Given the description of an element on the screen output the (x, y) to click on. 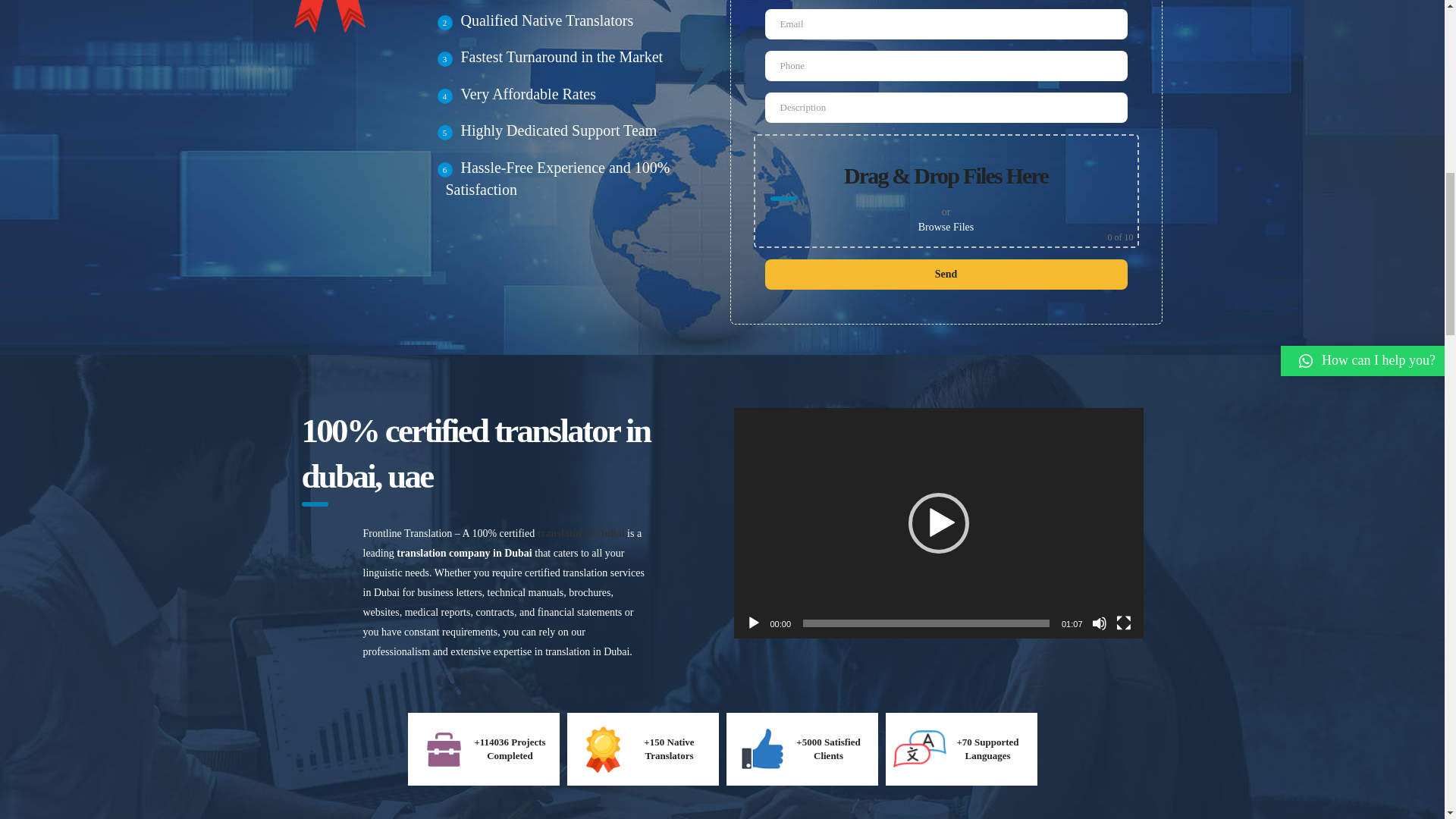
Fullscreen (1123, 622)
Send (945, 274)
Browse Files (946, 226)
Play (753, 622)
Mute (1099, 622)
Send (945, 274)
